Given the description of an element on the screen output the (x, y) to click on. 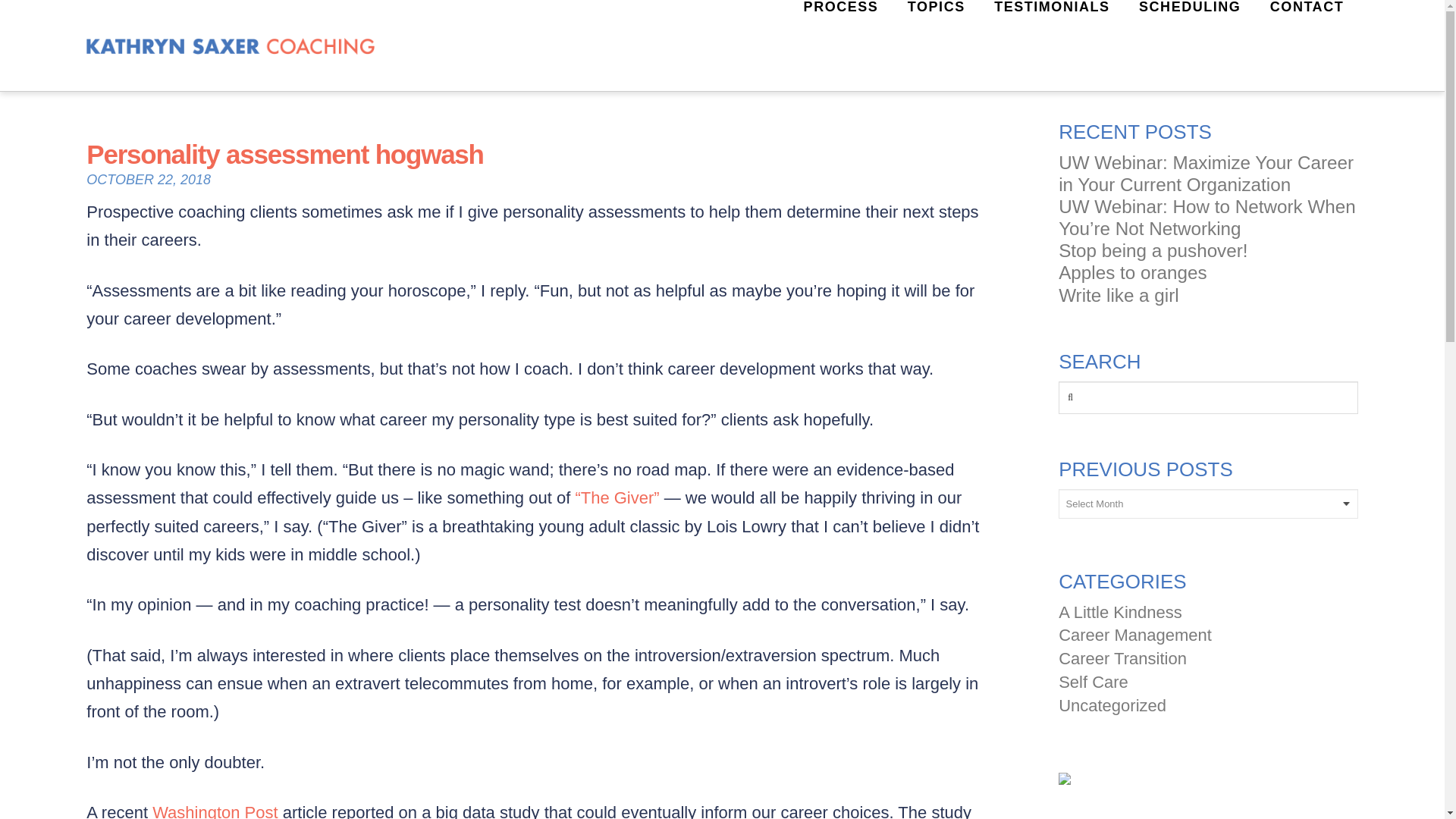
Self Care (1093, 681)
TESTIMONIALS (1051, 45)
Career Transition (1122, 658)
SCHEDULING (1189, 45)
Washington Post (215, 811)
A Little Kindness (1120, 611)
TOPICS (935, 45)
CONTACT (1306, 45)
Write like a girl (1208, 295)
